Given the description of an element on the screen output the (x, y) to click on. 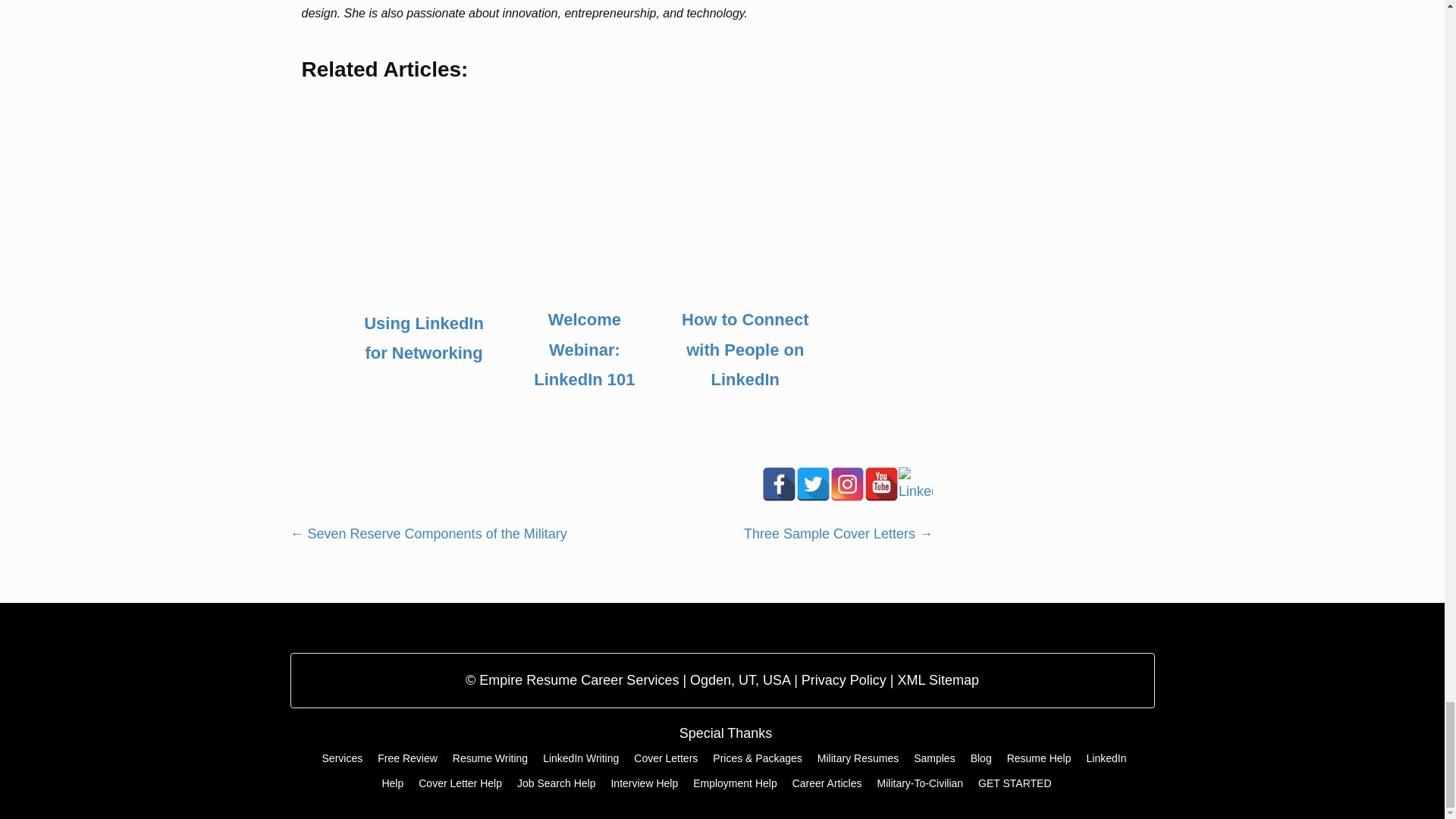
LinkedIn (915, 483)
Twitter (812, 483)
Using LinkedIn for Networking (423, 338)
How to Connect with People on LinkedIn (744, 349)
Facebook (778, 483)
YouTube (881, 483)
Instagram (846, 483)
Welcome Webinar: LinkedIn 101 (584, 349)
